Given the description of an element on the screen output the (x, y) to click on. 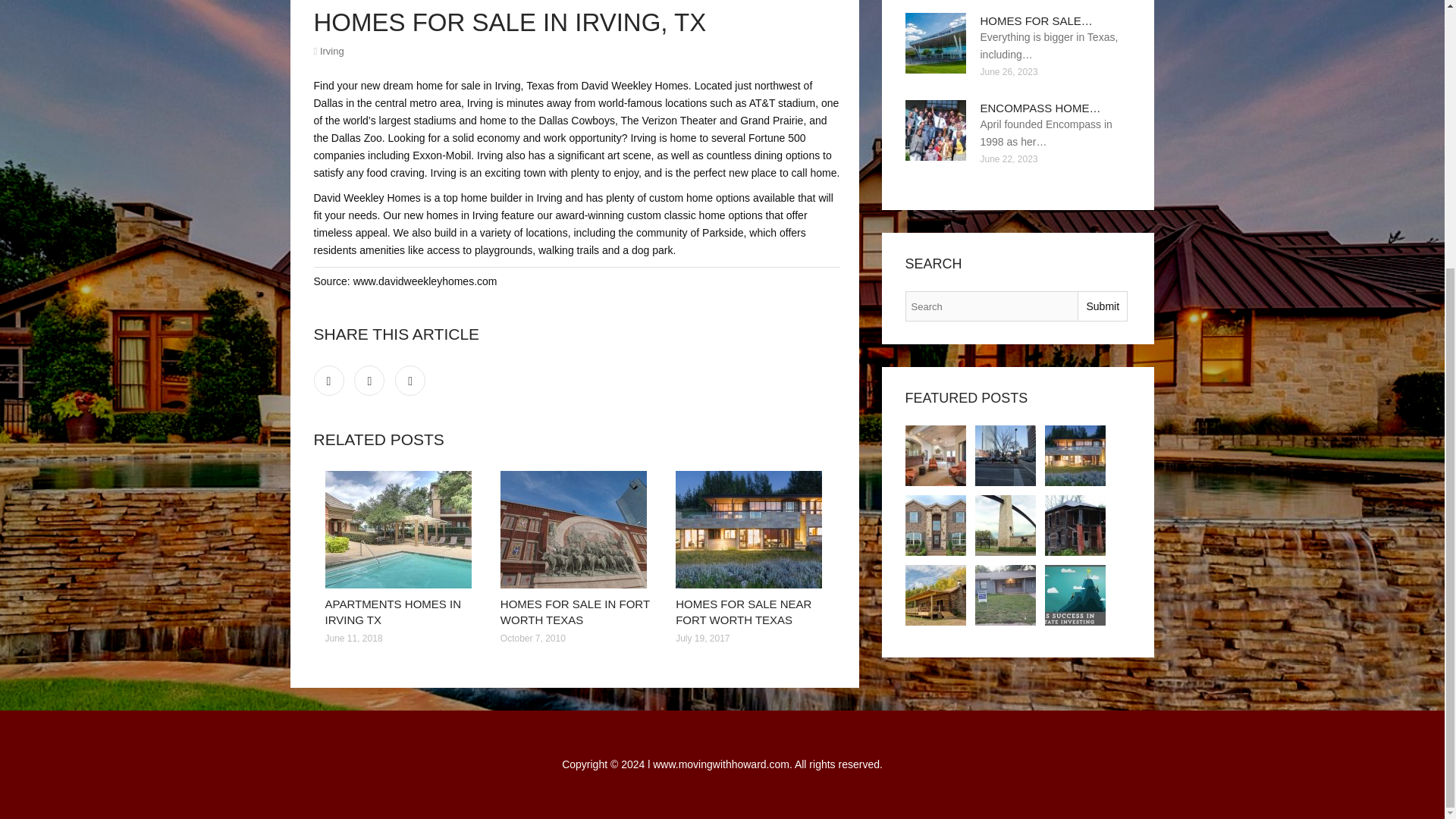
Homes for sale Near Fort Worth Texas (1075, 455)
Real Estate for sale in Dallas Texas (1075, 595)
Dallas Real Estate Homes for sale (1005, 595)
Homes for sale Near Fort Worth Texas (751, 529)
Irving (331, 50)
Apartments Homes in Irving TX (935, 455)
APARTMENTS HOMES IN IRVING TX (392, 611)
Homes for Sale. Real Estate (935, 595)
Homes for sale in Fort Worth Texas (1005, 455)
Homes for sale in Fort Worth Texas (576, 529)
HOMES FOR SALE IN FORT WORTH TEXAS (574, 611)
HOMES FOR SALE NEAR FORT WORTH TEXAS (742, 611)
Apartments Homes in Irving TX (400, 529)
Submit (1101, 306)
Mansions for sale in TX (1075, 525)
